Given the description of an element on the screen output the (x, y) to click on. 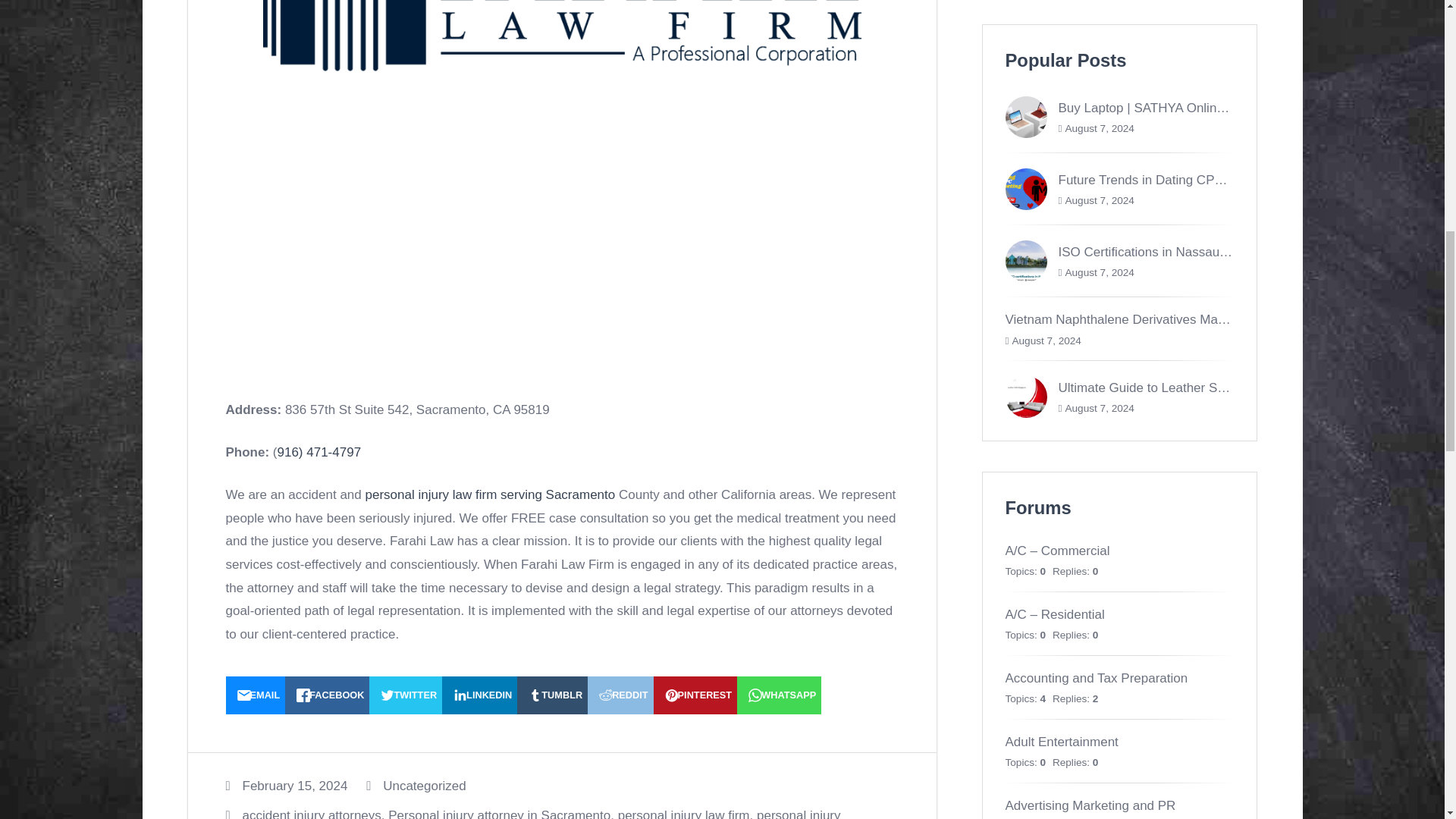
PINTEREST (695, 695)
LINKEDIN (479, 695)
Personal injury attorney in Sacramento (499, 813)
TWITTER (405, 695)
TUMBLR (552, 695)
REDDIT (620, 695)
personal injury law firm serving Sacramento (489, 494)
personal injury lawyers (533, 813)
August 7, 2024 (1099, 200)
Uncategorized (423, 785)
